Given the description of an element on the screen output the (x, y) to click on. 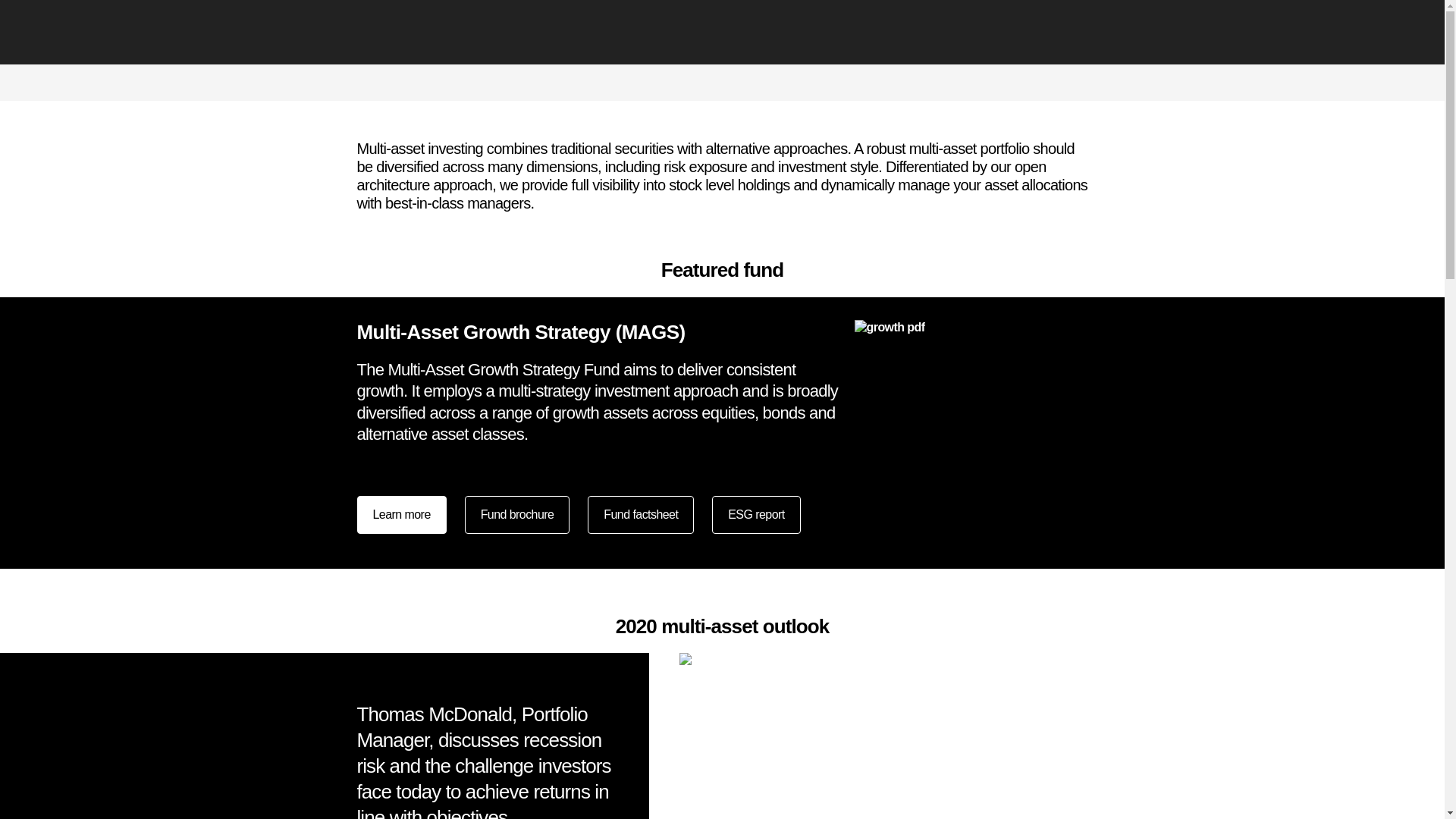
Fund factsheet (641, 514)
Fund brochure (517, 514)
Learn more (400, 514)
ESG report (755, 514)
